Given the description of an element on the screen output the (x, y) to click on. 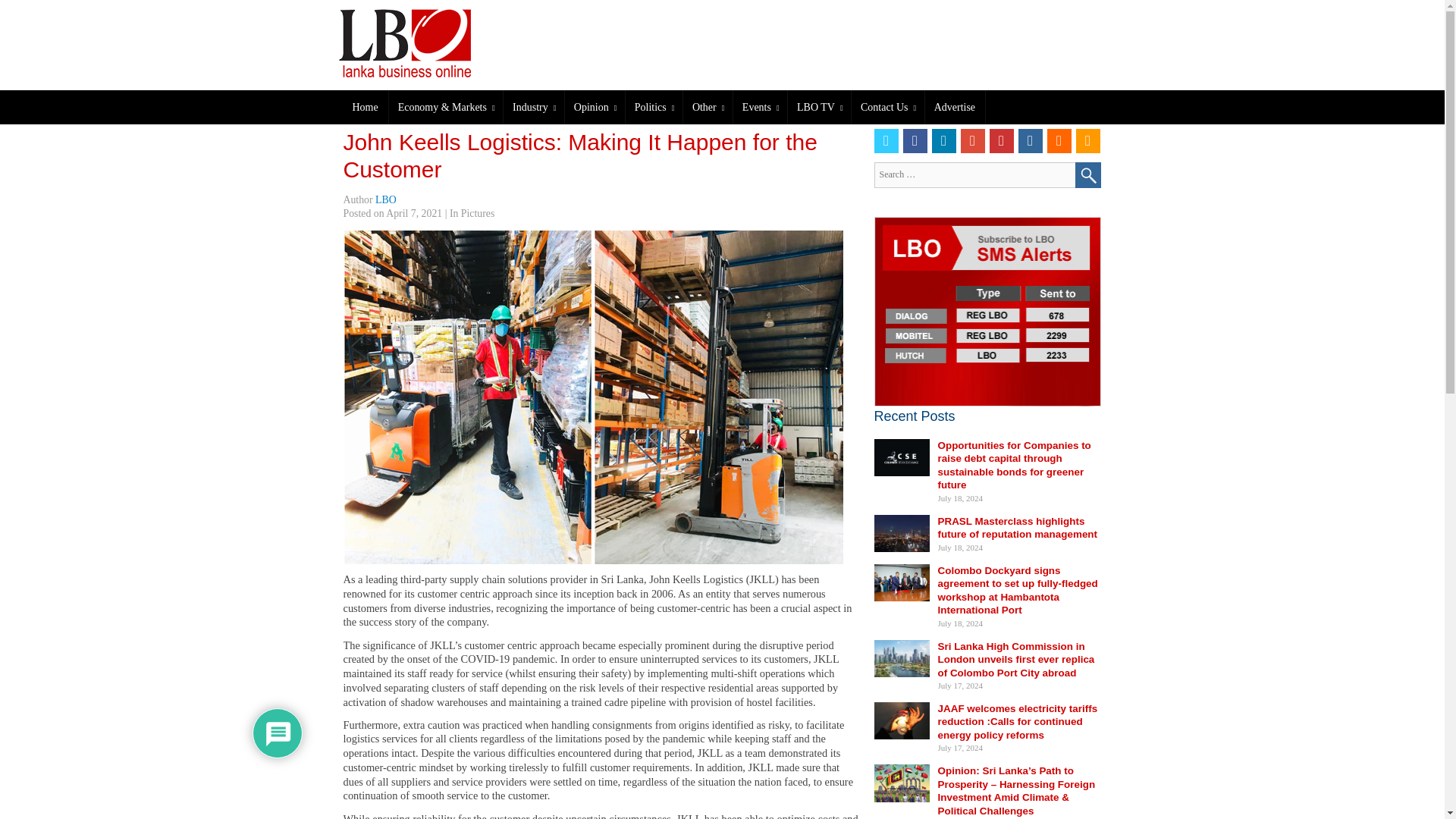
12:39 PM (413, 213)
Search (1087, 175)
View all posts by LBO (385, 199)
Lanka Business Online (414, 42)
Search (1087, 175)
Lanka Business Online (427, 42)
